Given the description of an element on the screen output the (x, y) to click on. 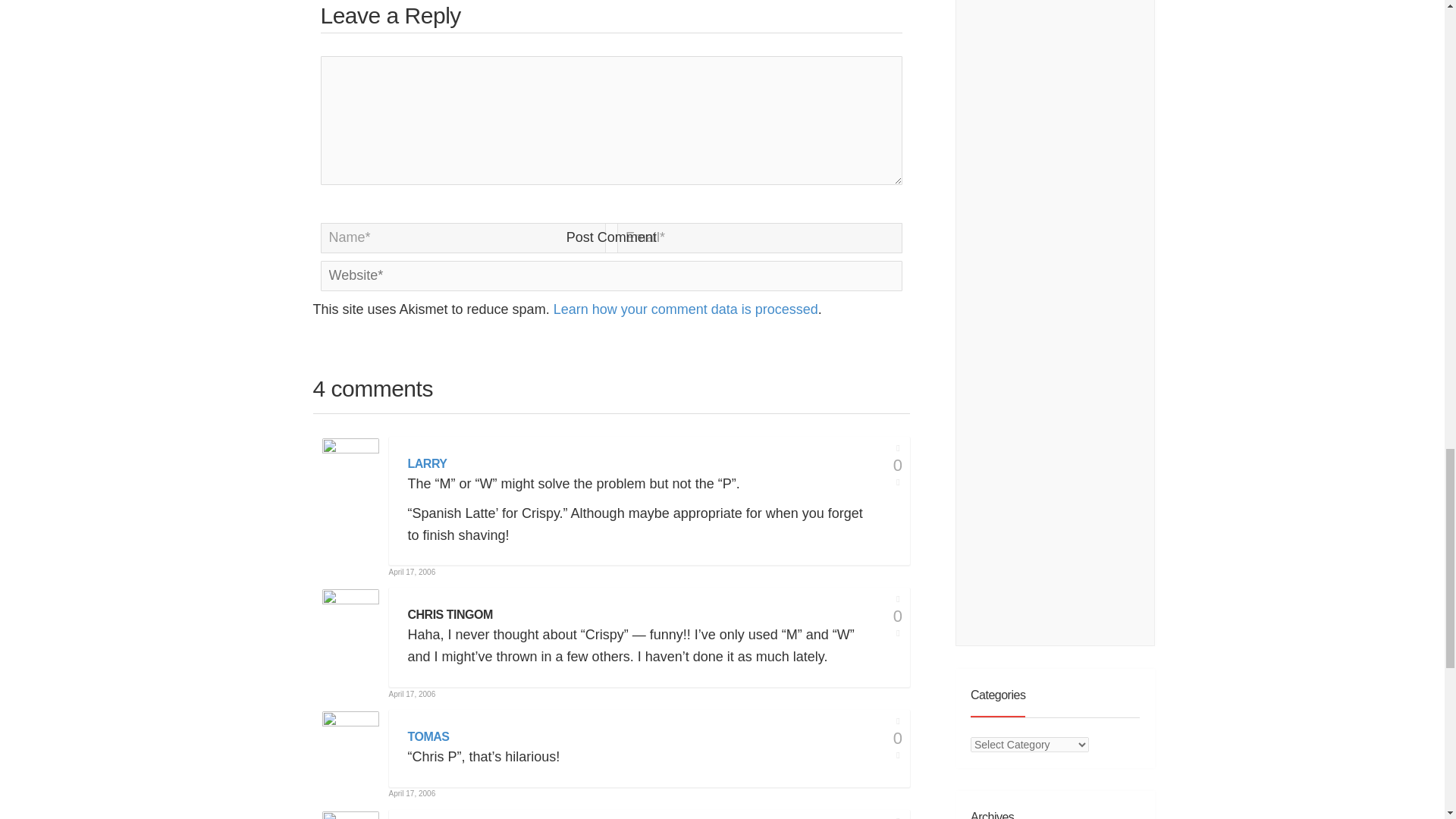
LARRY (426, 464)
Post Comment (611, 237)
April 17, 2006 (411, 572)
Learn how your comment data is processed (685, 309)
April 17, 2006 (411, 694)
CHRIS TINGOM (450, 615)
April 17, 2006 (411, 793)
Post Comment (611, 237)
